Given the description of an element on the screen output the (x, y) to click on. 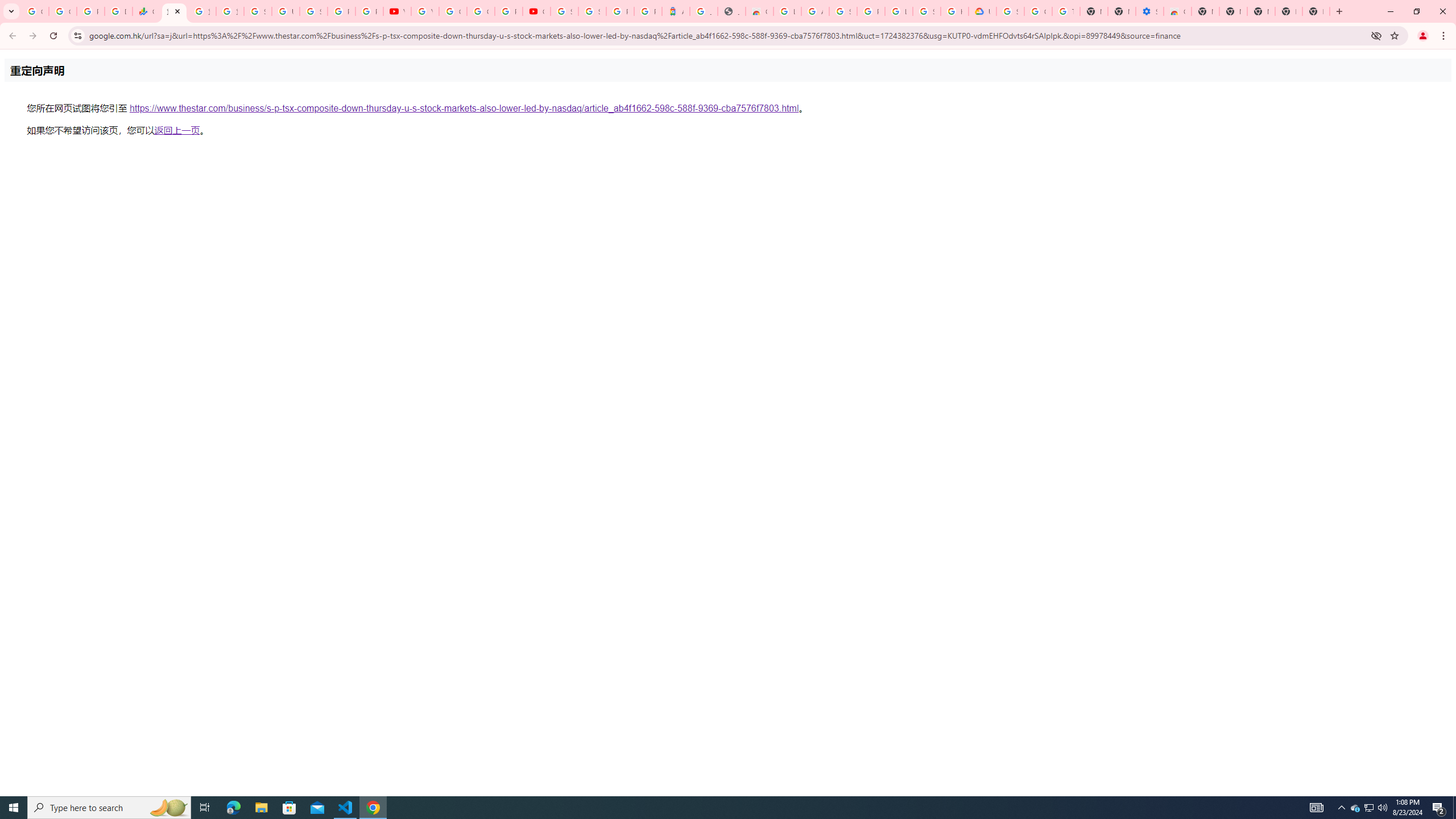
New Tab (1316, 11)
Chrome Web Store - Household (759, 11)
Sign in - Google Accounts (1010, 11)
Third-party cookies blocked (1376, 35)
Google Account Help (1038, 11)
Google Account Help (452, 11)
Settings - Accessibility (1150, 11)
Turn cookies on or off - Computer - Google Account Help (1065, 11)
